Given the description of an element on the screen output the (x, y) to click on. 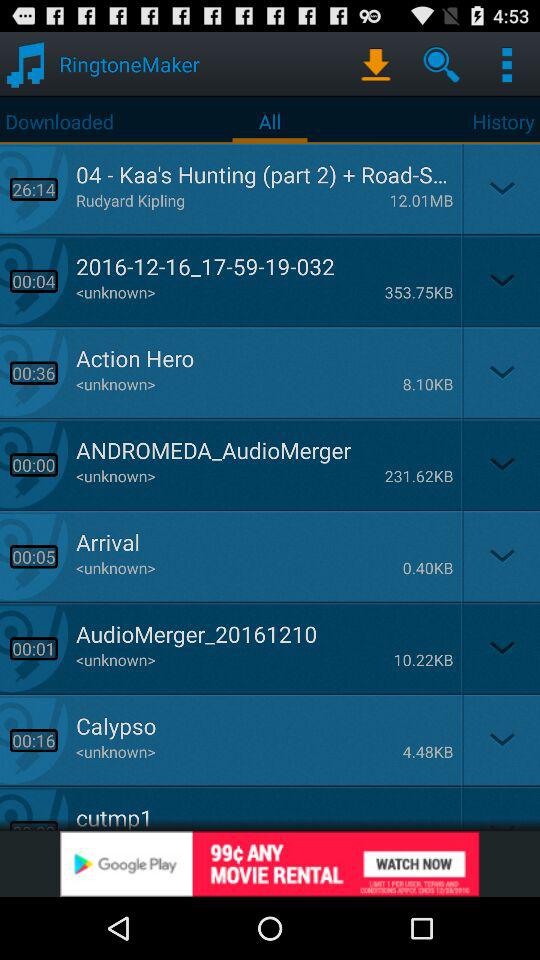
view advertisement (270, 864)
